Given the description of an element on the screen output the (x, y) to click on. 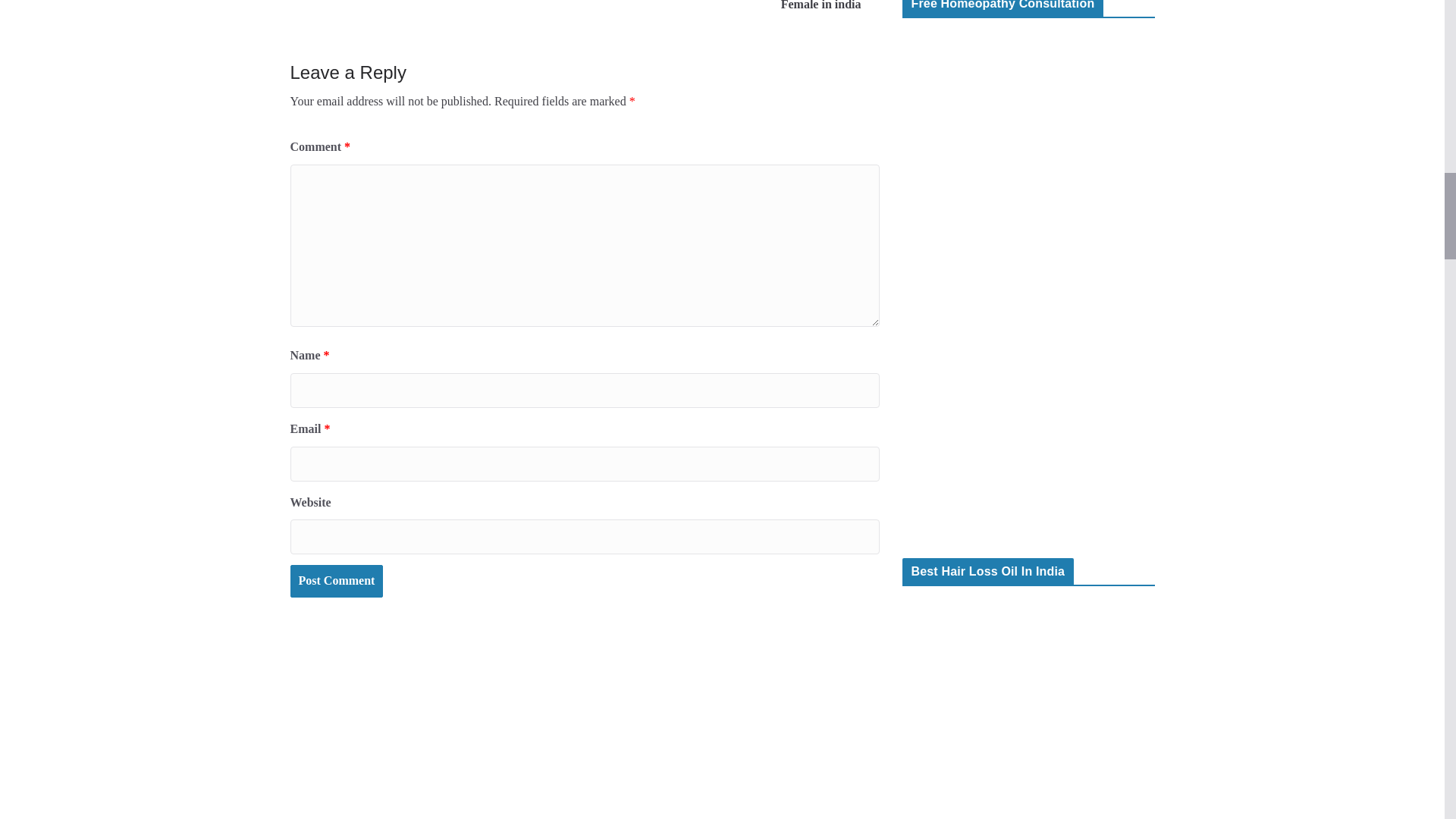
Post Comment (335, 581)
Post Comment (335, 581)
